Given the description of an element on the screen output the (x, y) to click on. 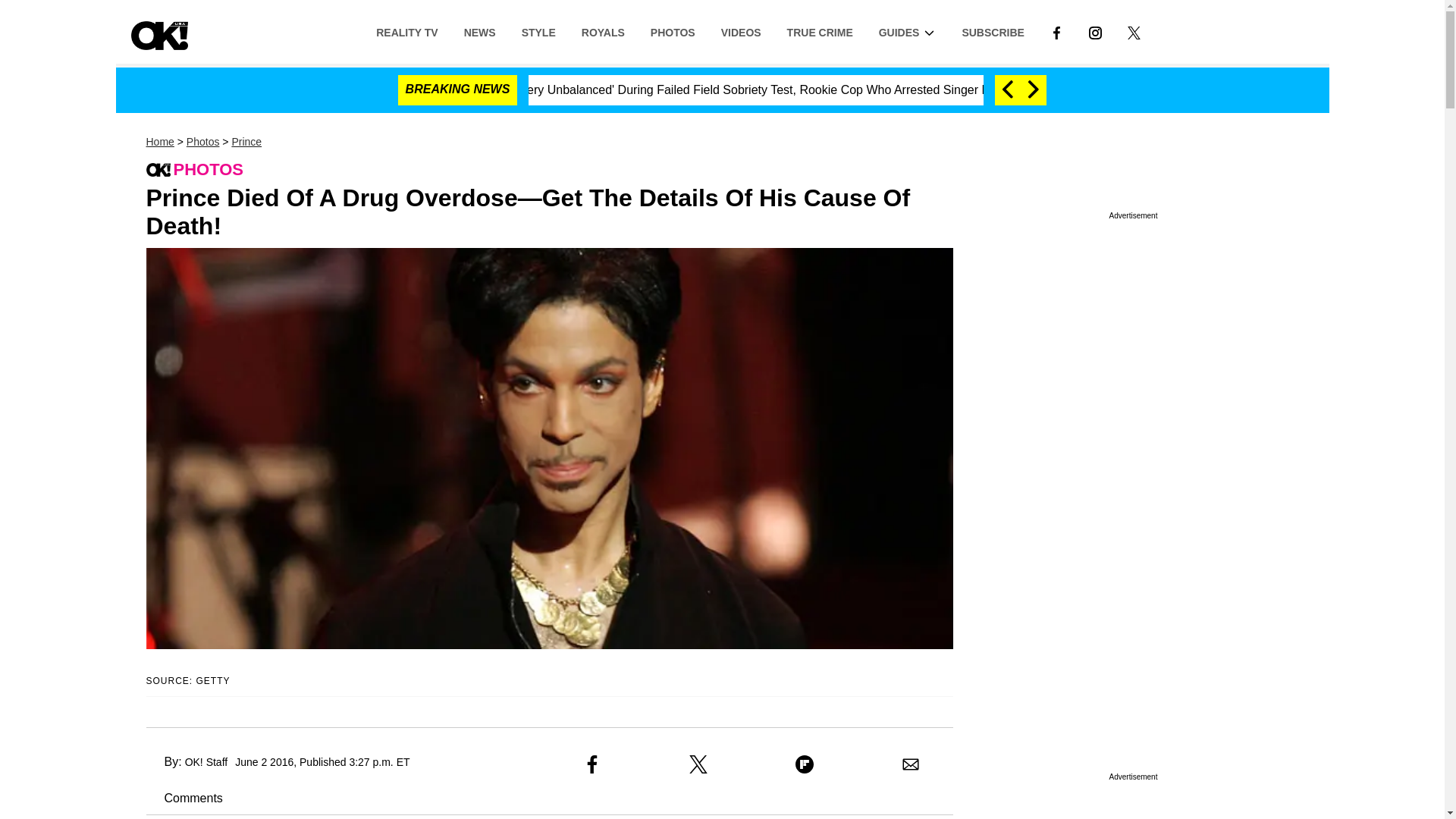
Share to Facebook (590, 764)
Share to Flipboard (803, 764)
LINK TO FACEBOOK (1055, 32)
OK! Staff (206, 761)
Link to Facebook (1055, 31)
LINK TO INSTAGRAM (1095, 32)
Home (159, 141)
Photos (202, 141)
LINK TO FACEBOOK (1055, 31)
